Given the description of an element on the screen output the (x, y) to click on. 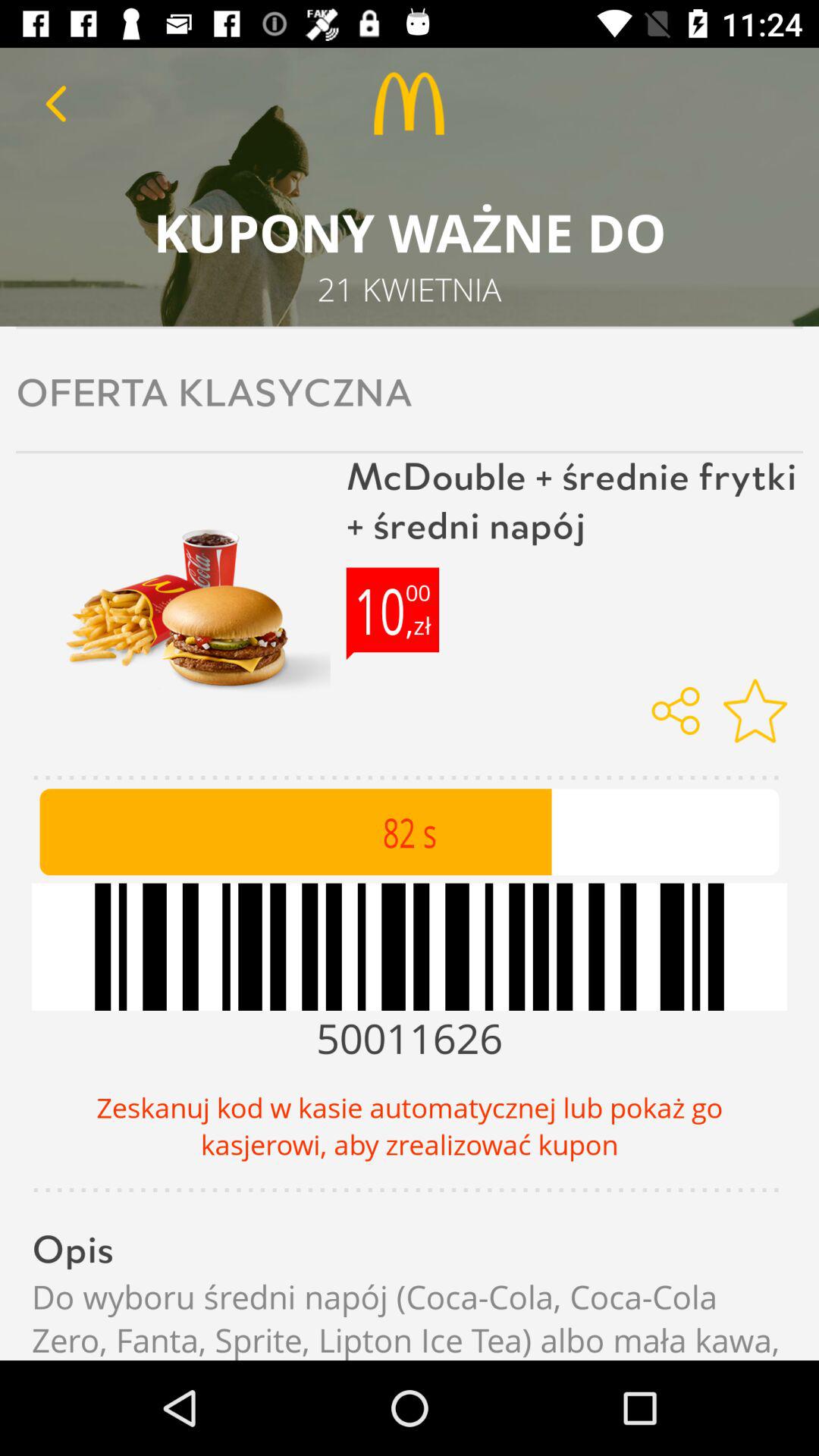
go back (55, 103)
